Given the description of an element on the screen output the (x, y) to click on. 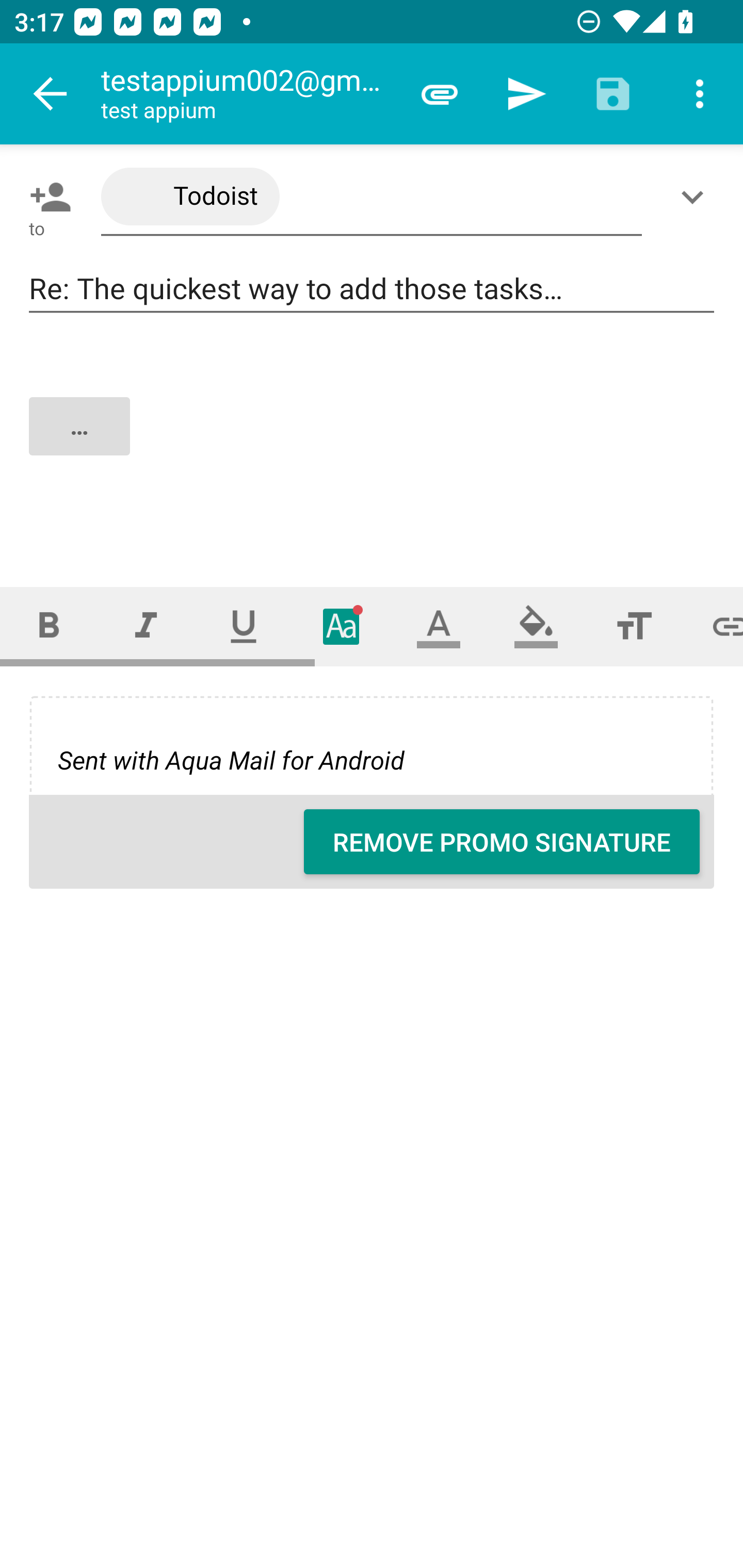
Navigate up (50, 93)
testappium002@gmail.com test appium (248, 93)
Attach (439, 93)
Send (525, 93)
Save (612, 93)
More options (699, 93)
Todoist <no-reply@todoist.com>,  (371, 197)
Pick contact: To (46, 196)
Show/Add CC/BCC (696, 196)
Re: The quickest way to add those tasks… (371, 288)

…
 (372, 442)
Bold (48, 626)
Italic (145, 626)
Underline (243, 626)
Typeface (font) (341, 626)
Text color (438, 626)
Fill color (536, 626)
Font size (633, 626)
REMOVE PROMO SIGNATURE (501, 841)
